Given the description of an element on the screen output the (x, y) to click on. 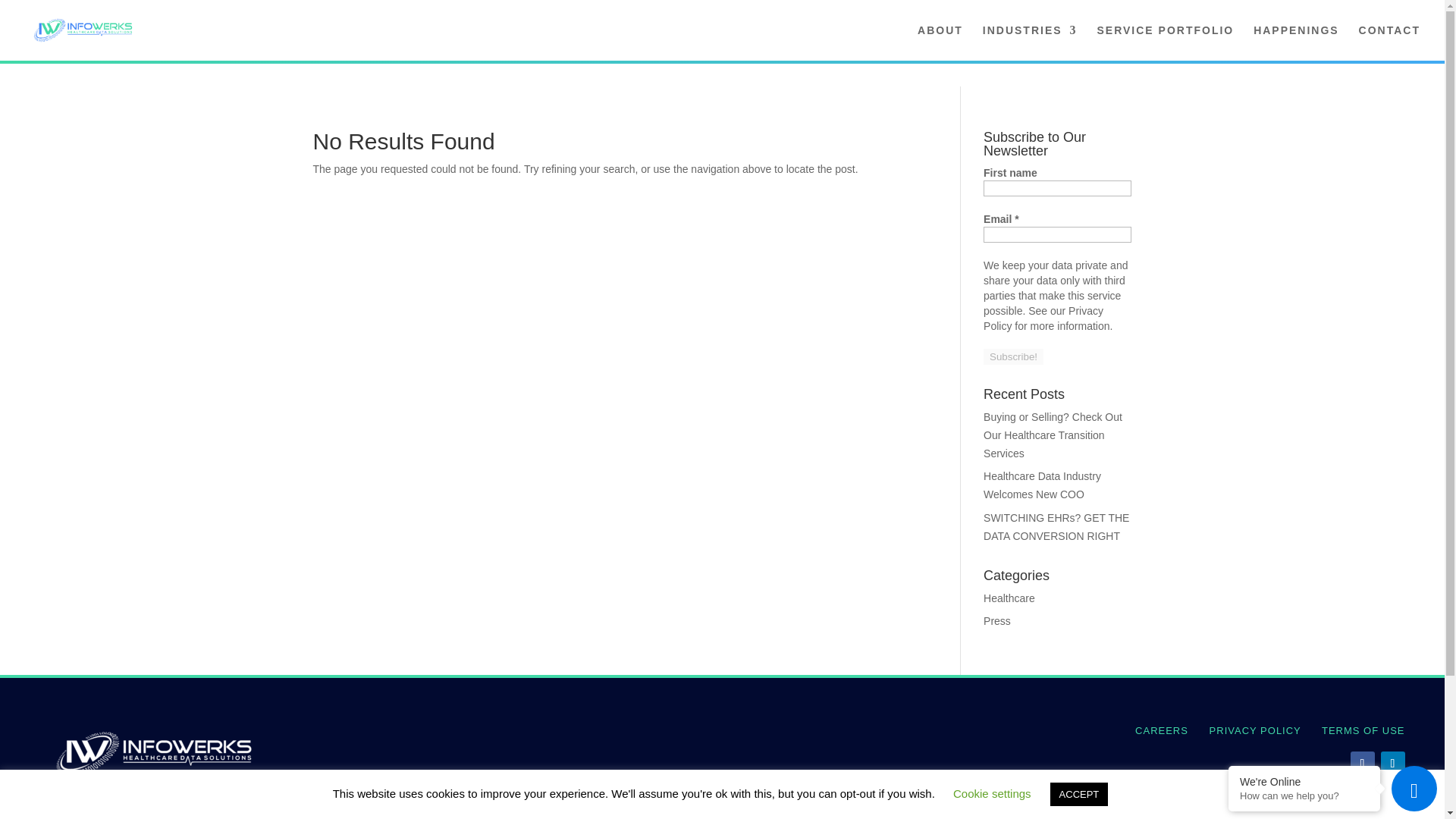
Healthcare (1009, 598)
First name (1057, 188)
Follow on LinkedIn (1392, 763)
Cookie settings (991, 793)
SERVICE PORTFOLIO (1164, 42)
We're Online (1304, 781)
Press (997, 621)
CONTACT (1389, 42)
ACCEPT (1078, 793)
PRIVACY POLICY (1255, 730)
Subscribe! (1013, 356)
Follow on Facebook (1361, 763)
SWITCHING EHRs? GET THE DATA CONVERSION RIGHT (1056, 526)
HAPPENINGS (1296, 42)
